Given the description of an element on the screen output the (x, y) to click on. 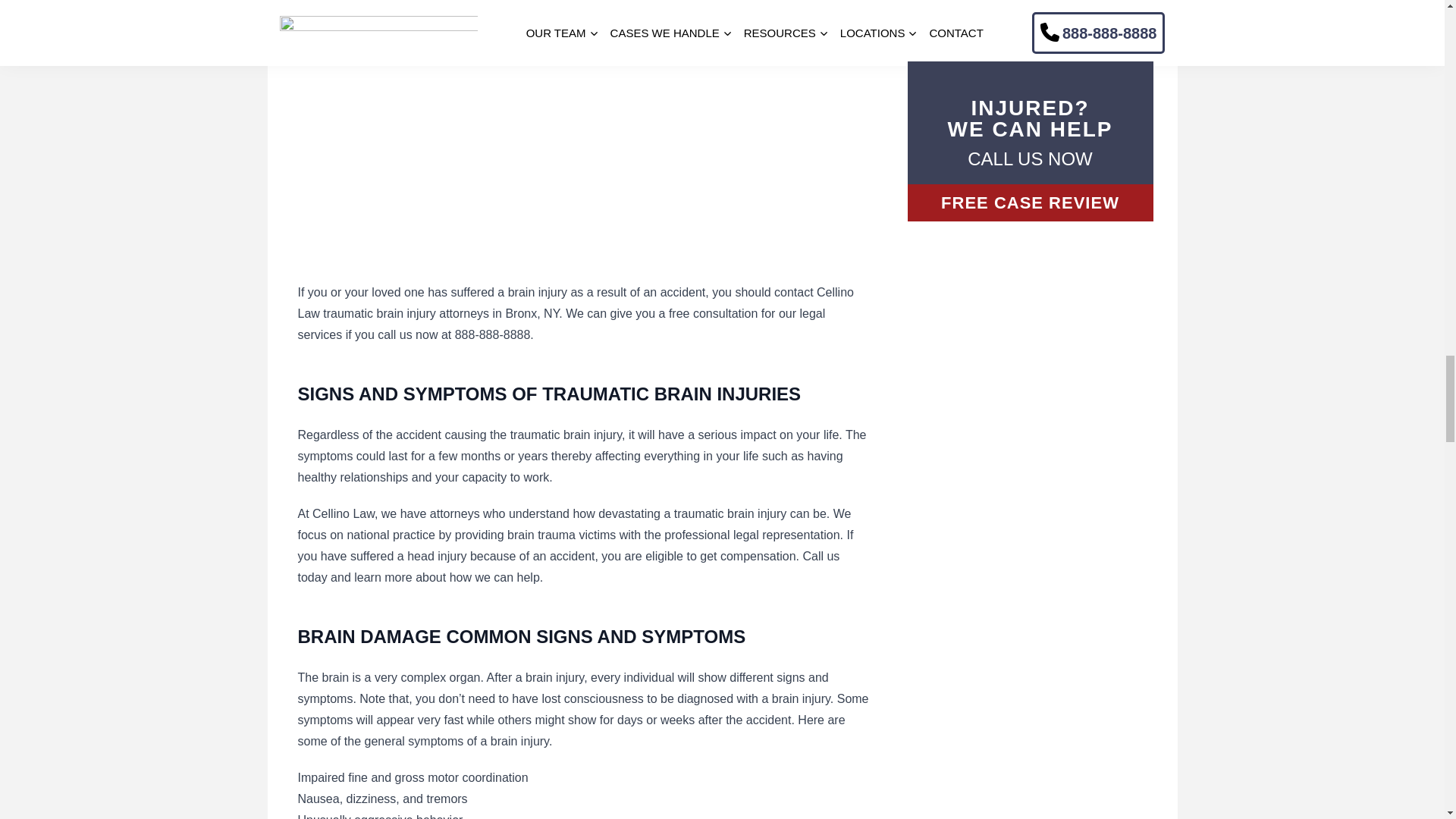
Bronx Traumatic Brain Injury Lawyer (487, 140)
